Given the description of an element on the screen output the (x, y) to click on. 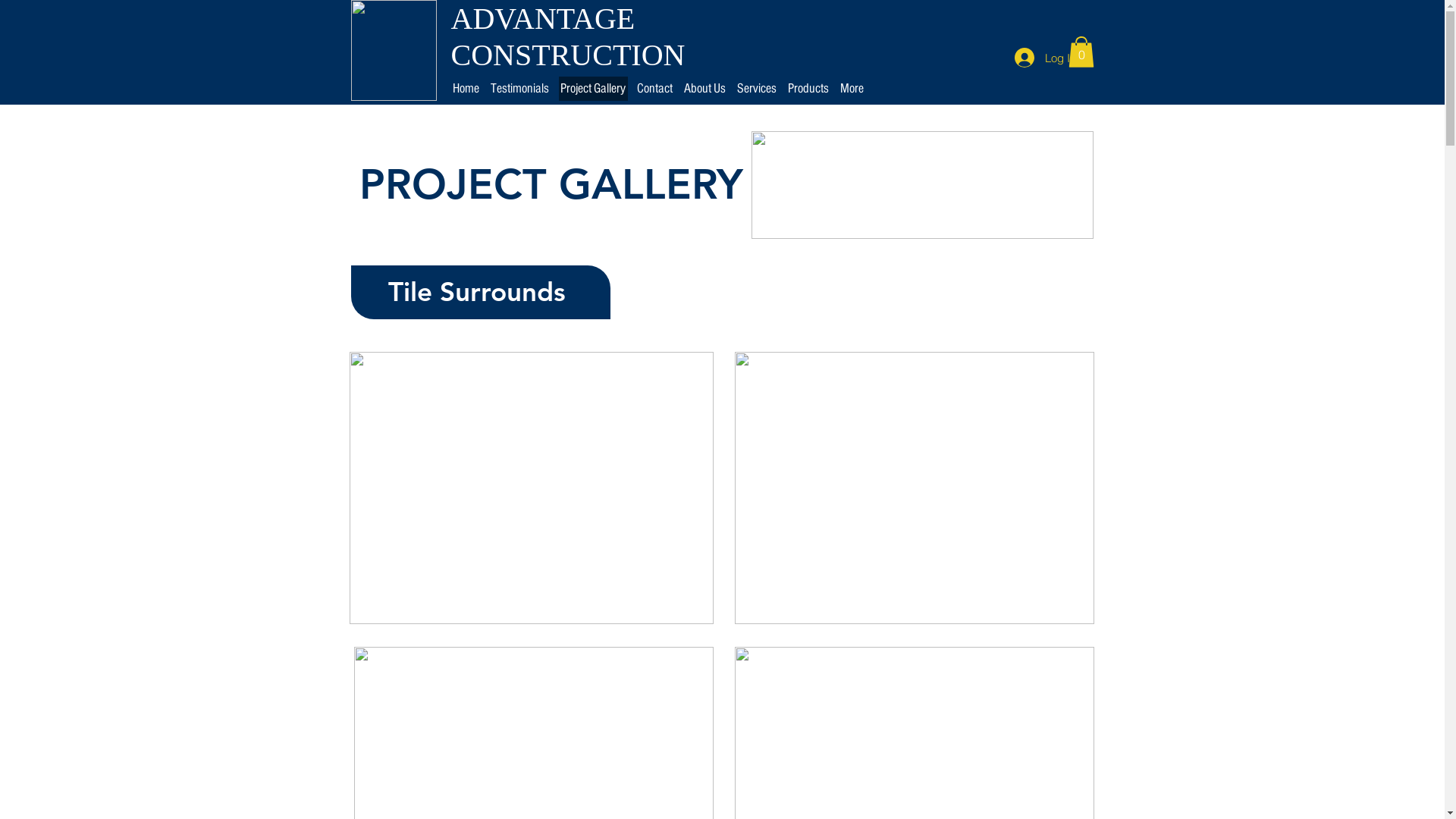
Project Gallery Element type: text (592, 88)
Log In Element type: text (1045, 57)
About Us Element type: text (705, 88)
Contact Element type: text (654, 88)
Products Element type: text (807, 88)
0 Element type: text (1080, 51)
Home Element type: text (465, 88)
Testimonials Element type: text (519, 88)
Services Element type: text (756, 88)
